Given the description of an element on the screen output the (x, y) to click on. 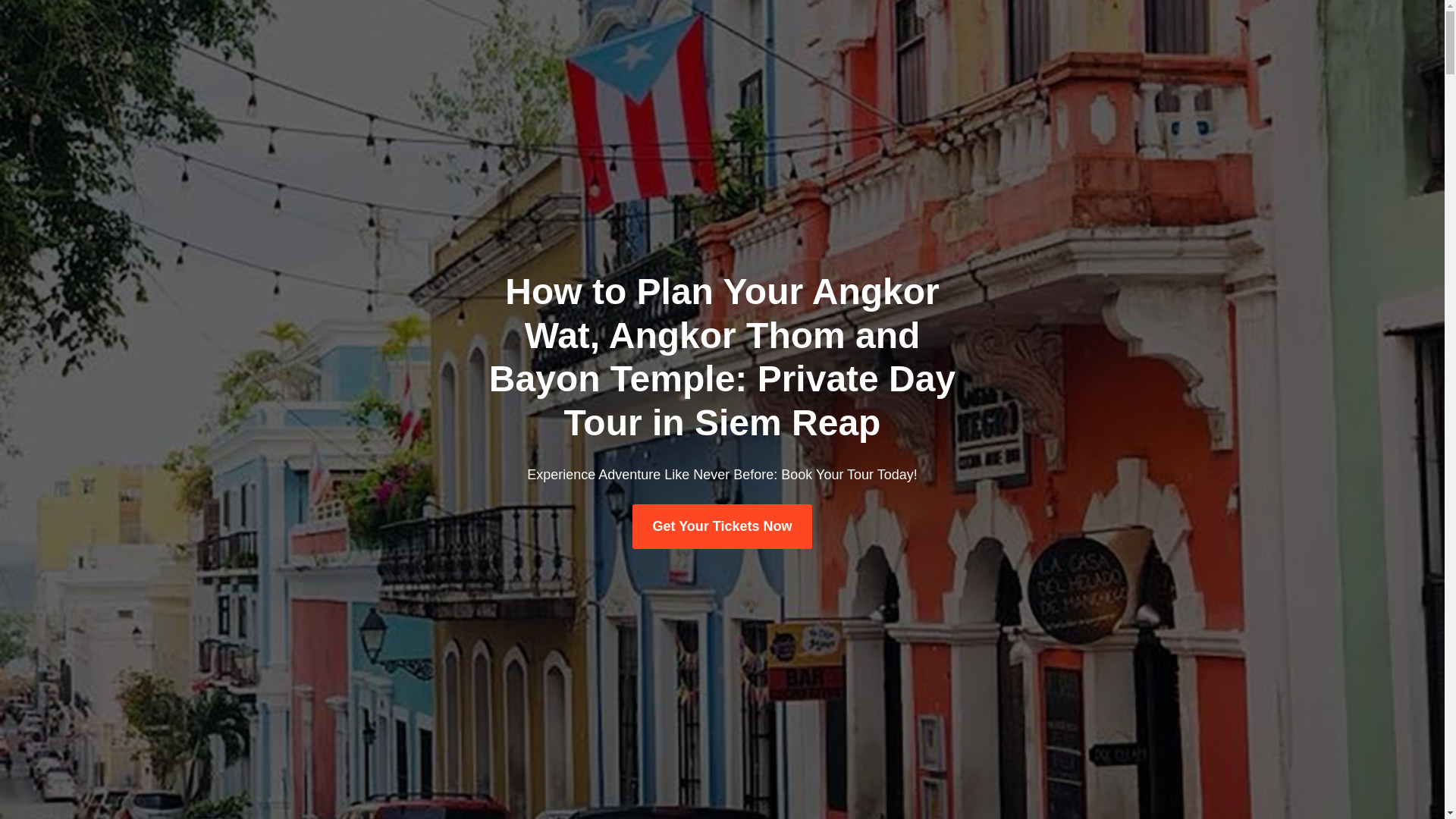
Get Your Tickets Now (720, 526)
